Given the description of an element on the screen output the (x, y) to click on. 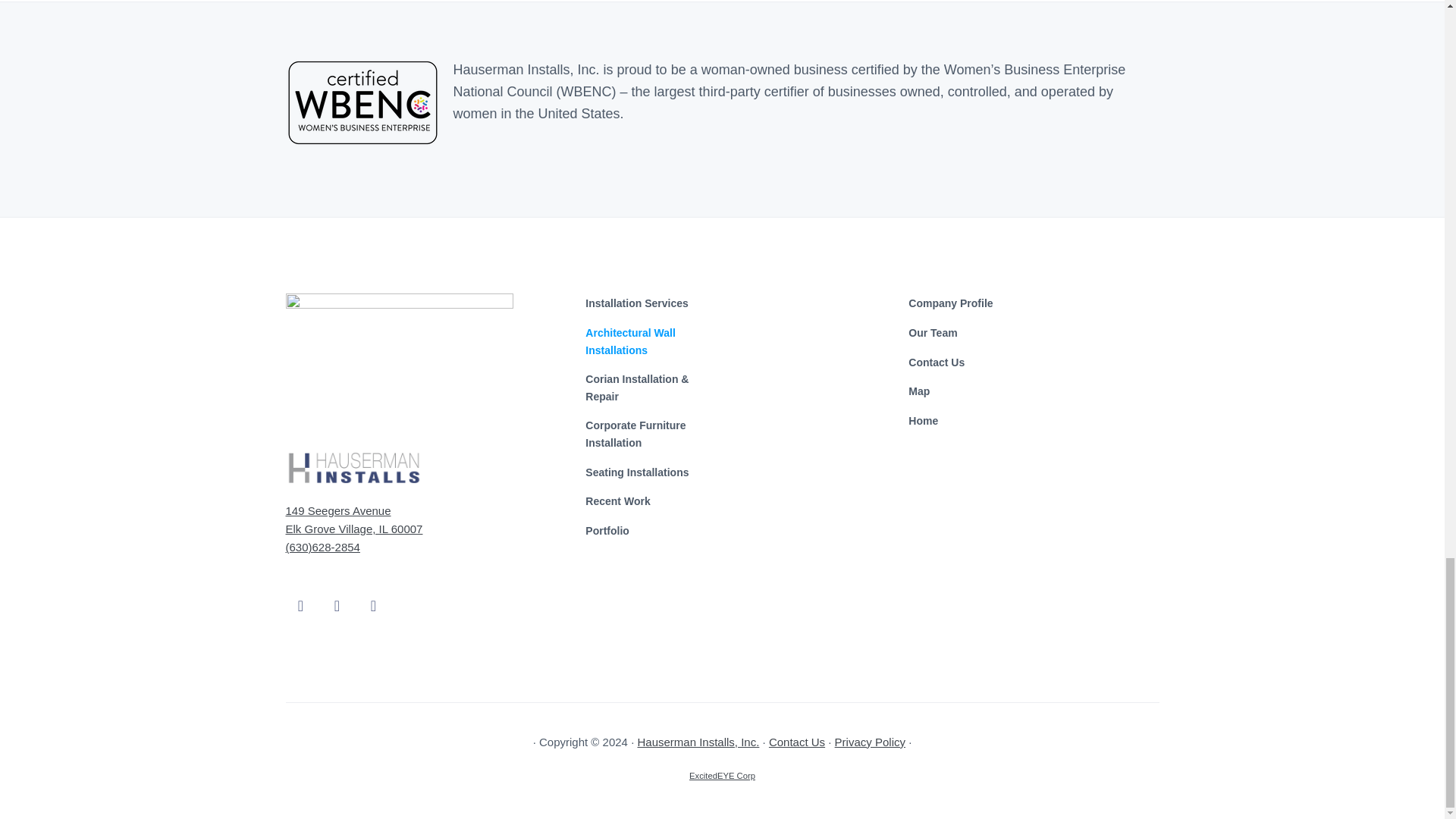
Instagram (336, 593)
Facebook (300, 593)
LinkedIn (373, 593)
